Given the description of an element on the screen output the (x, y) to click on. 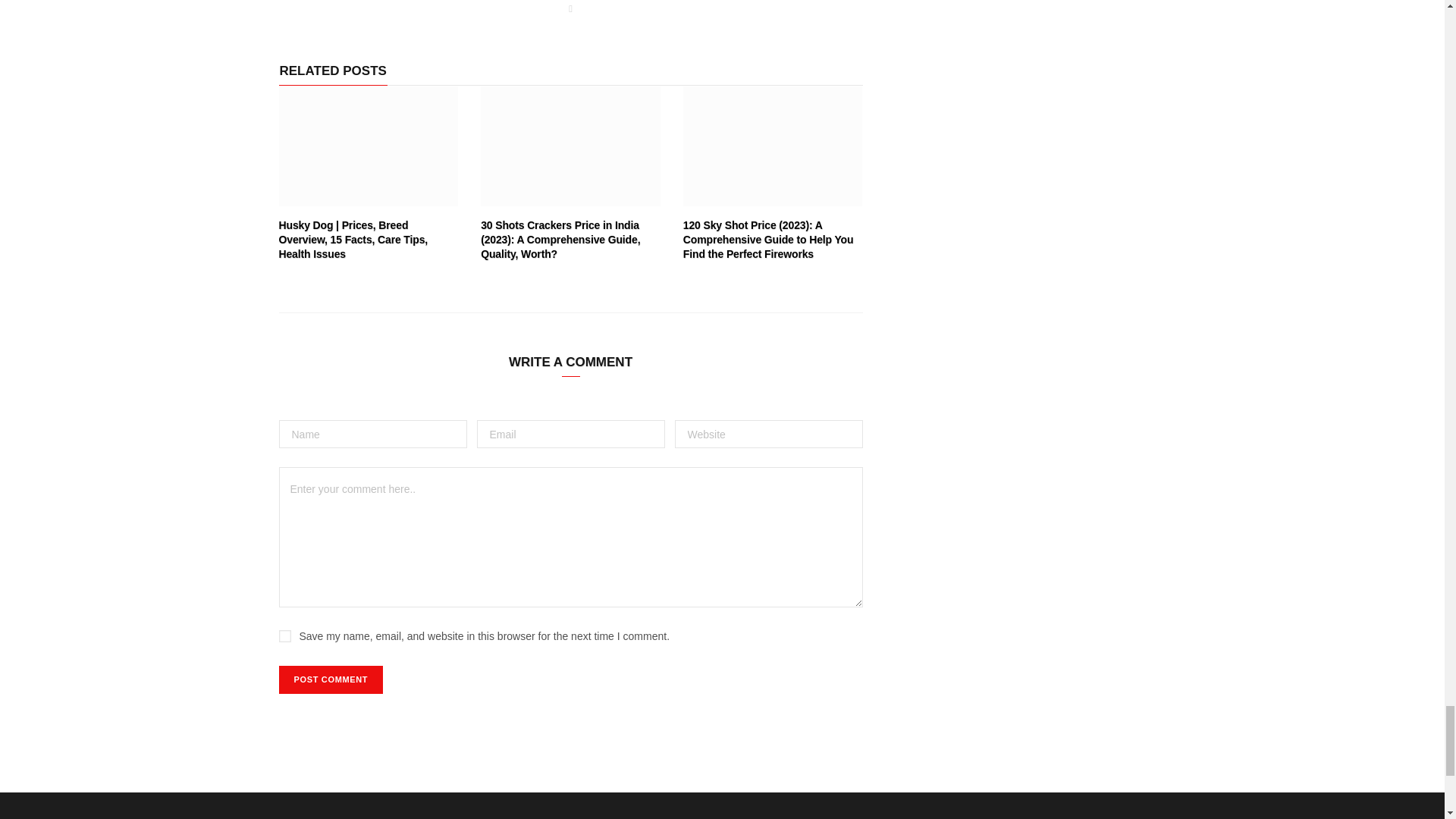
Post Comment (331, 679)
yes (285, 635)
